Given the description of an element on the screen output the (x, y) to click on. 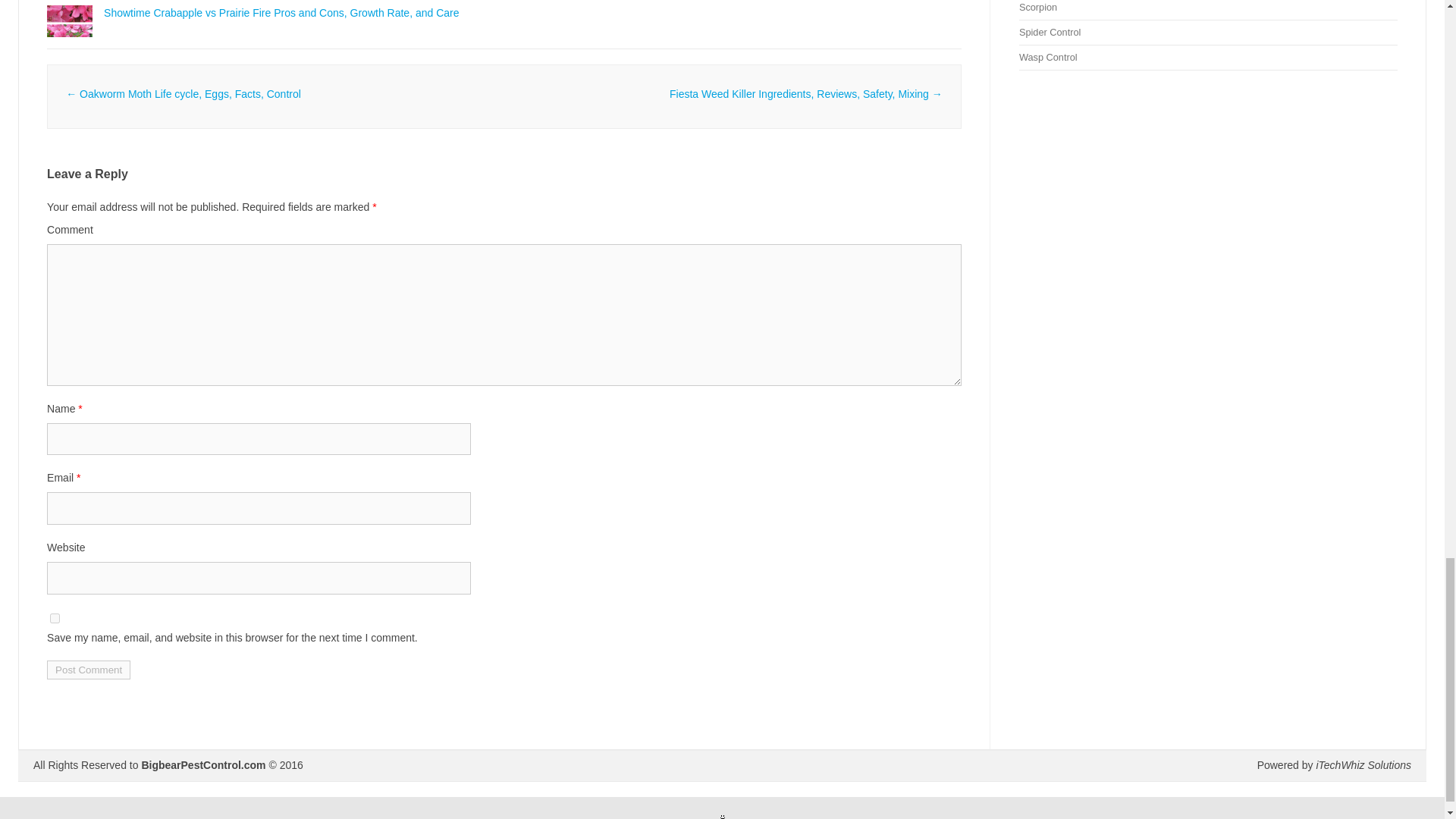
Post Comment (88, 669)
yes (54, 618)
